Given the description of an element on the screen output the (x, y) to click on. 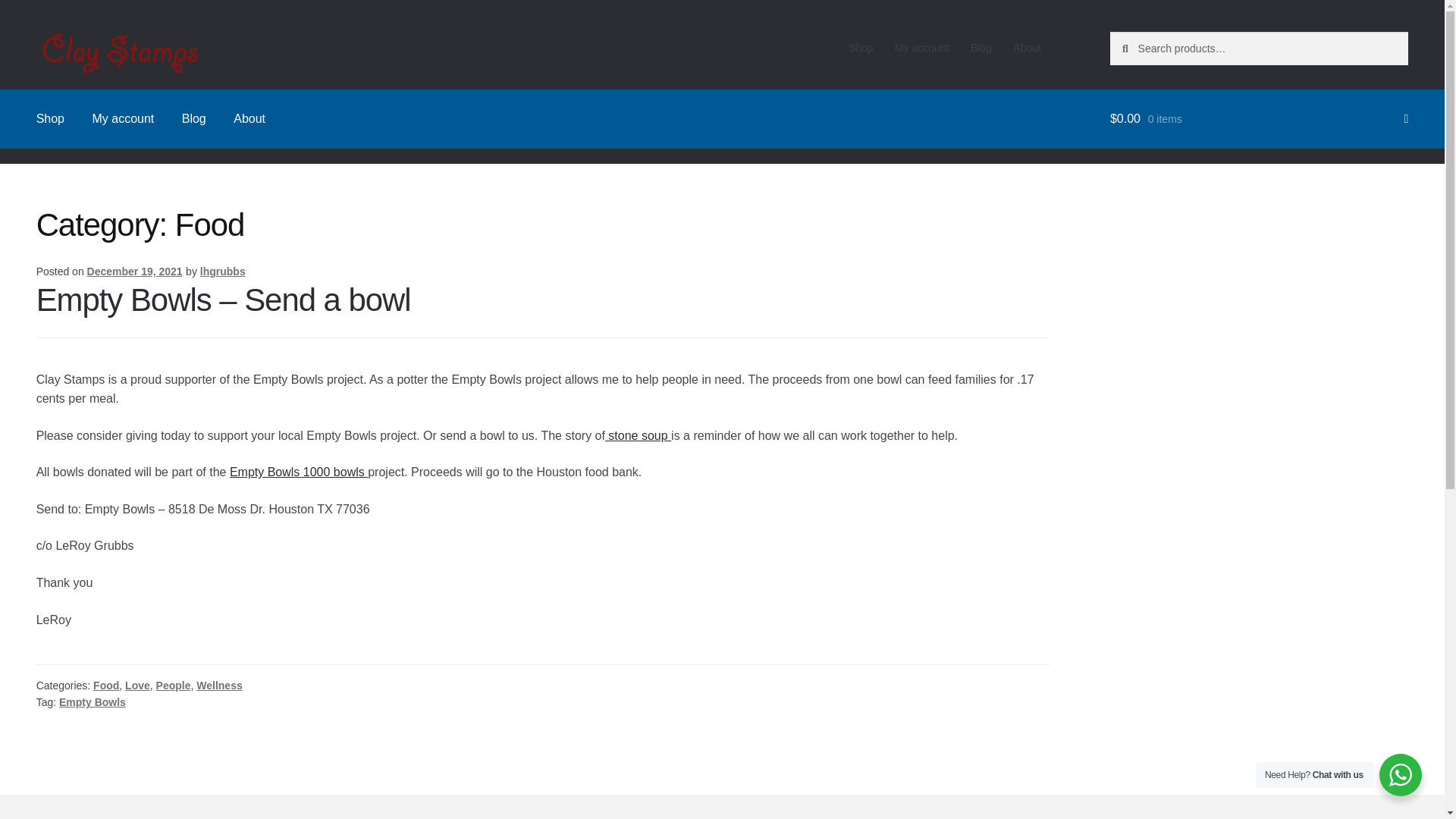
About (1026, 47)
My account (122, 118)
My account (921, 47)
Blog (980, 47)
lhgrubbs (223, 271)
Love (137, 685)
About (249, 118)
Empty Bowls (92, 702)
Shop (861, 47)
Wellness (218, 685)
